Given the description of an element on the screen output the (x, y) to click on. 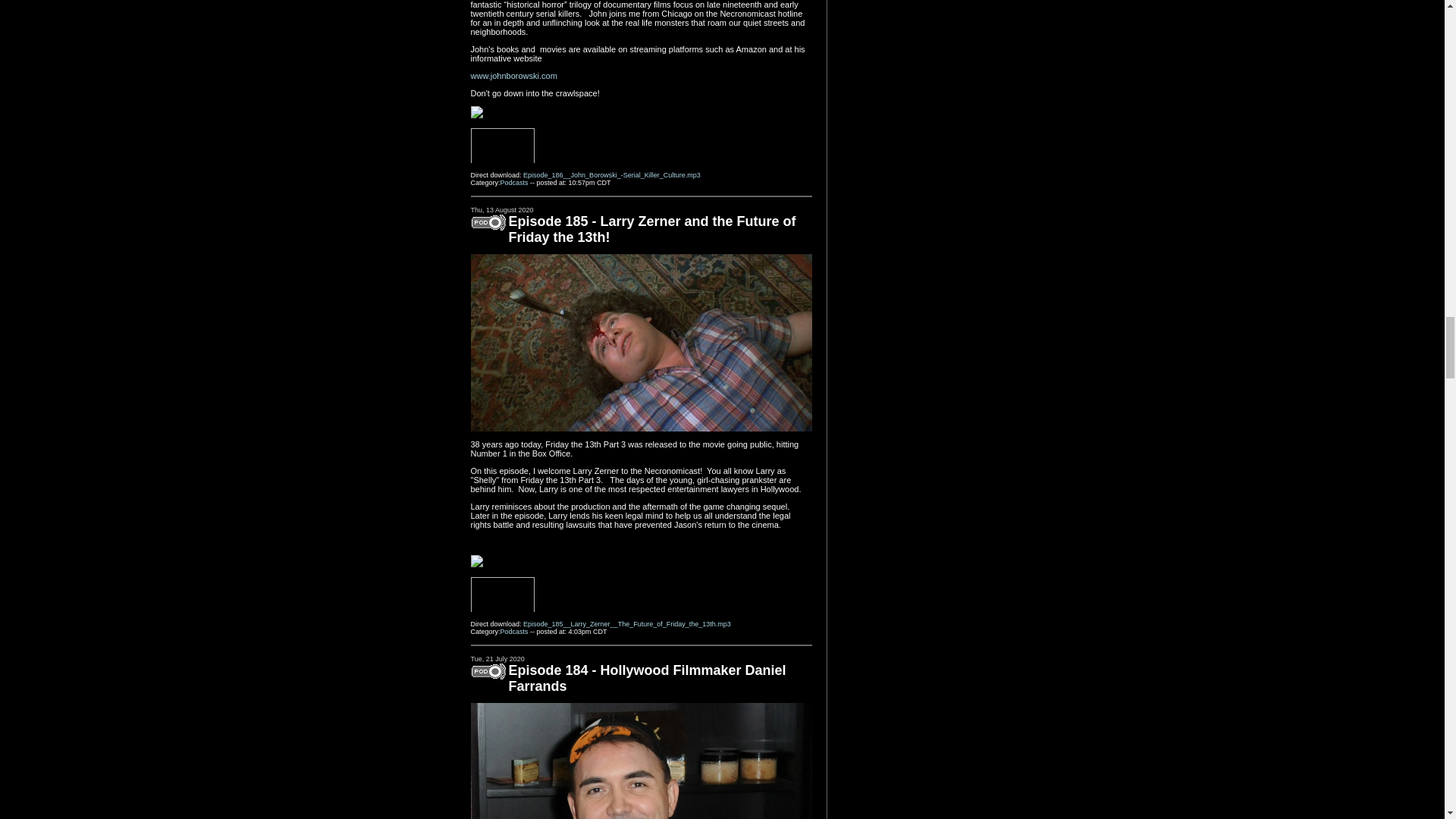
Podcasts (514, 631)
Podcasts (514, 182)
www.johnborowski.com (513, 75)
Episode 184 - Hollywood Filmmaker Daniel Farrands (647, 677)
